Given the description of an element on the screen output the (x, y) to click on. 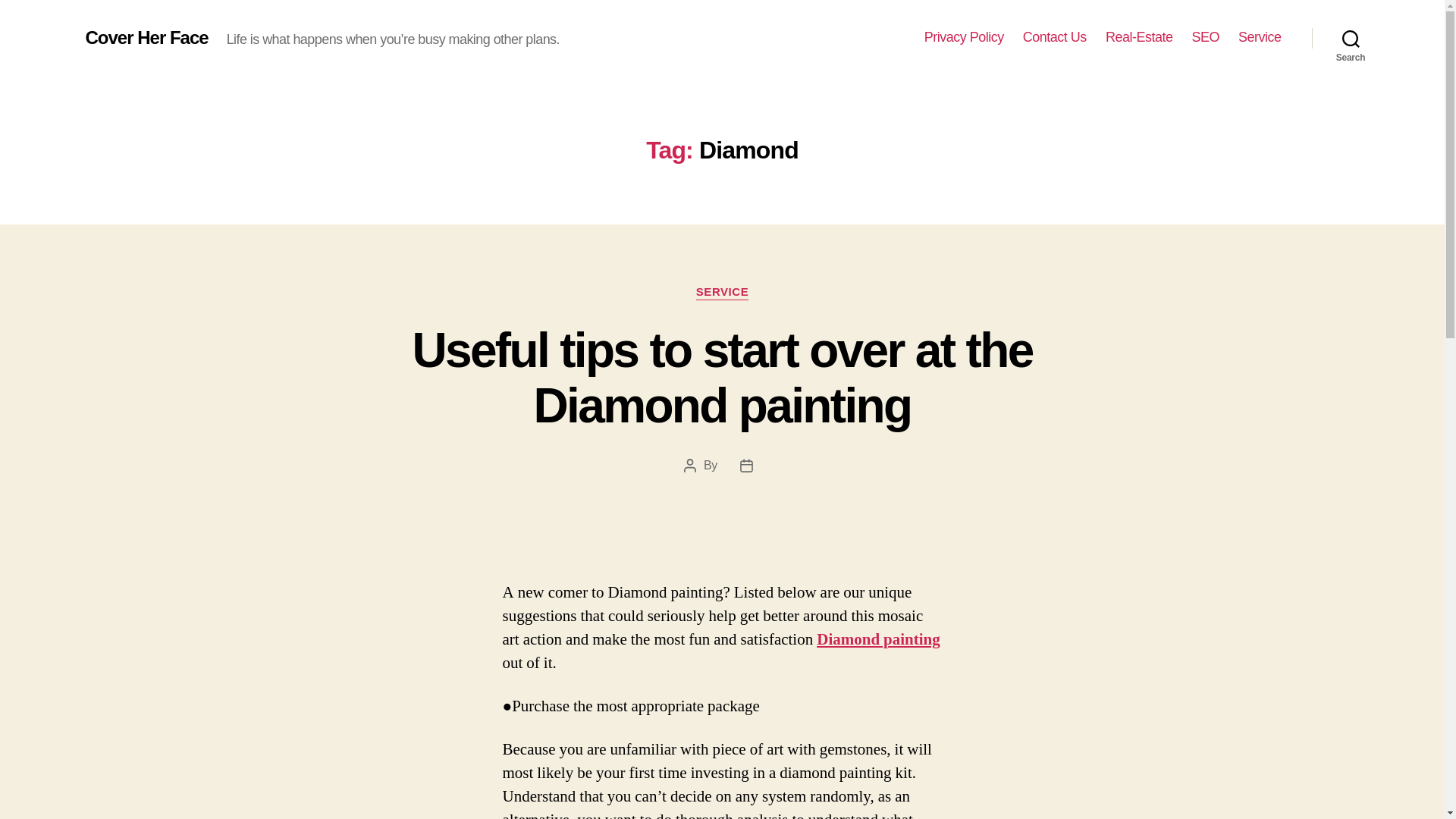
SERVICE (721, 292)
Diamond painting (878, 639)
Useful tips to start over at the Diamond painting (722, 377)
Privacy Policy (964, 37)
Contact Us (1054, 37)
Service (1260, 37)
Search (1350, 37)
Cover Her Face (146, 37)
Real-Estate (1139, 37)
SEO (1205, 37)
